Given the description of an element on the screen output the (x, y) to click on. 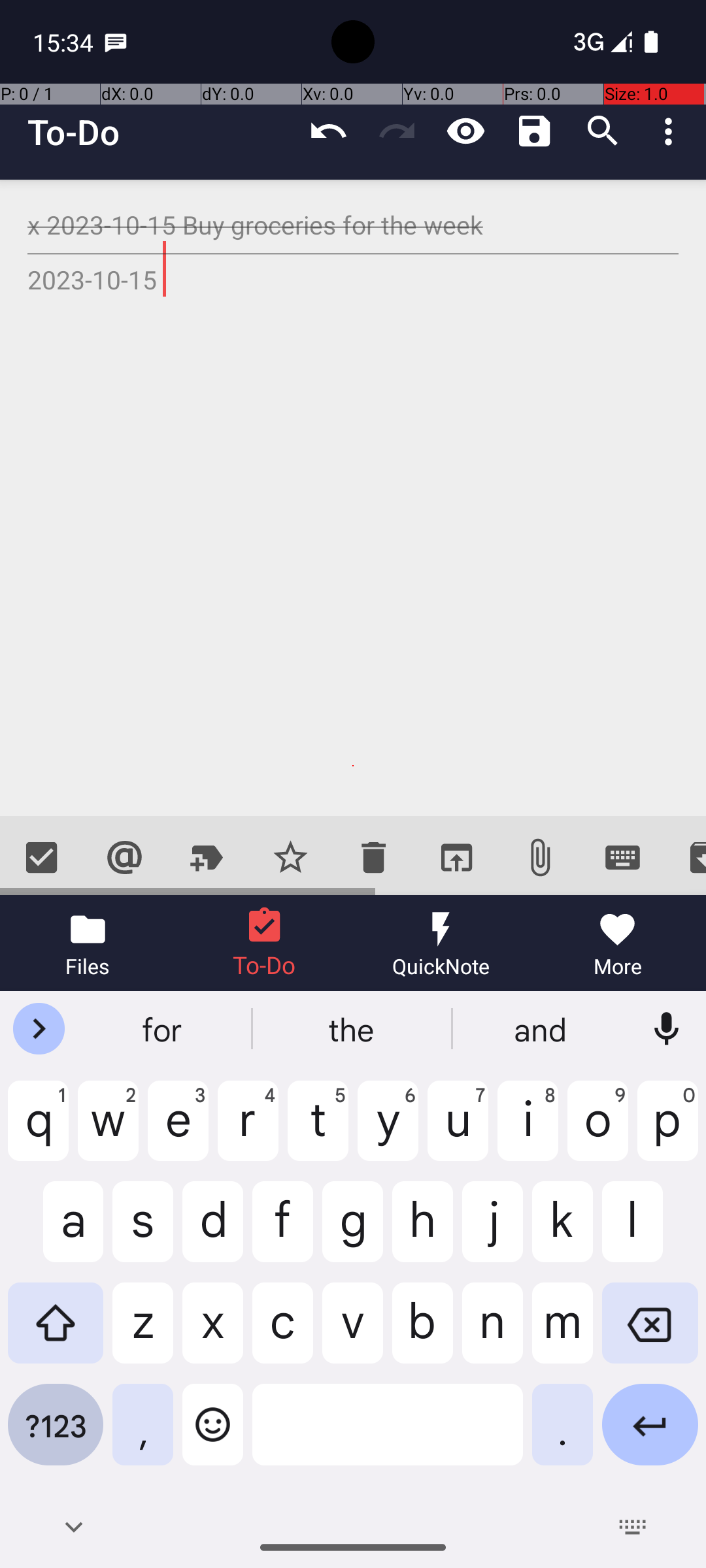
x 2023-10-15 Buy groceries for the week
2023-10-15  Element type: android.widget.EditText (353, 497)
Toggle done Element type: android.widget.ImageView (41, 857)
Add context Element type: android.widget.ImageView (124, 857)
Add project Element type: android.widget.ImageView (207, 857)
Archive completed tasks Element type: android.widget.ImageView (685, 857)
for Element type: android.widget.FrameLayout (163, 1028)
the Element type: android.widget.FrameLayout (352, 1028)
and Element type: android.widget.FrameLayout (541, 1028)
